Given the description of an element on the screen output the (x, y) to click on. 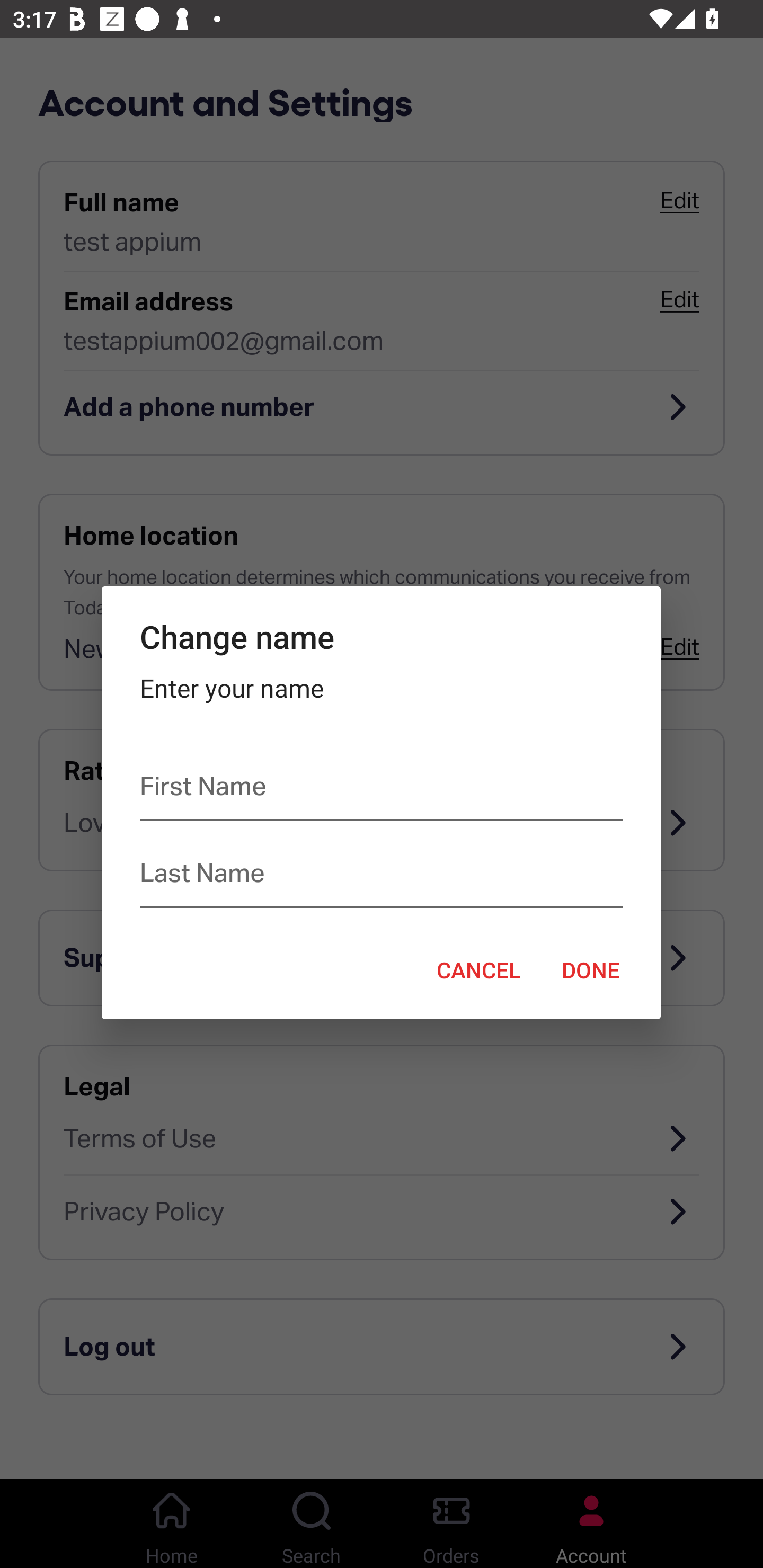
First Name (380, 790)
Last Name (380, 877)
CANCEL (478, 969)
DONE (590, 969)
